Given the description of an element on the screen output the (x, y) to click on. 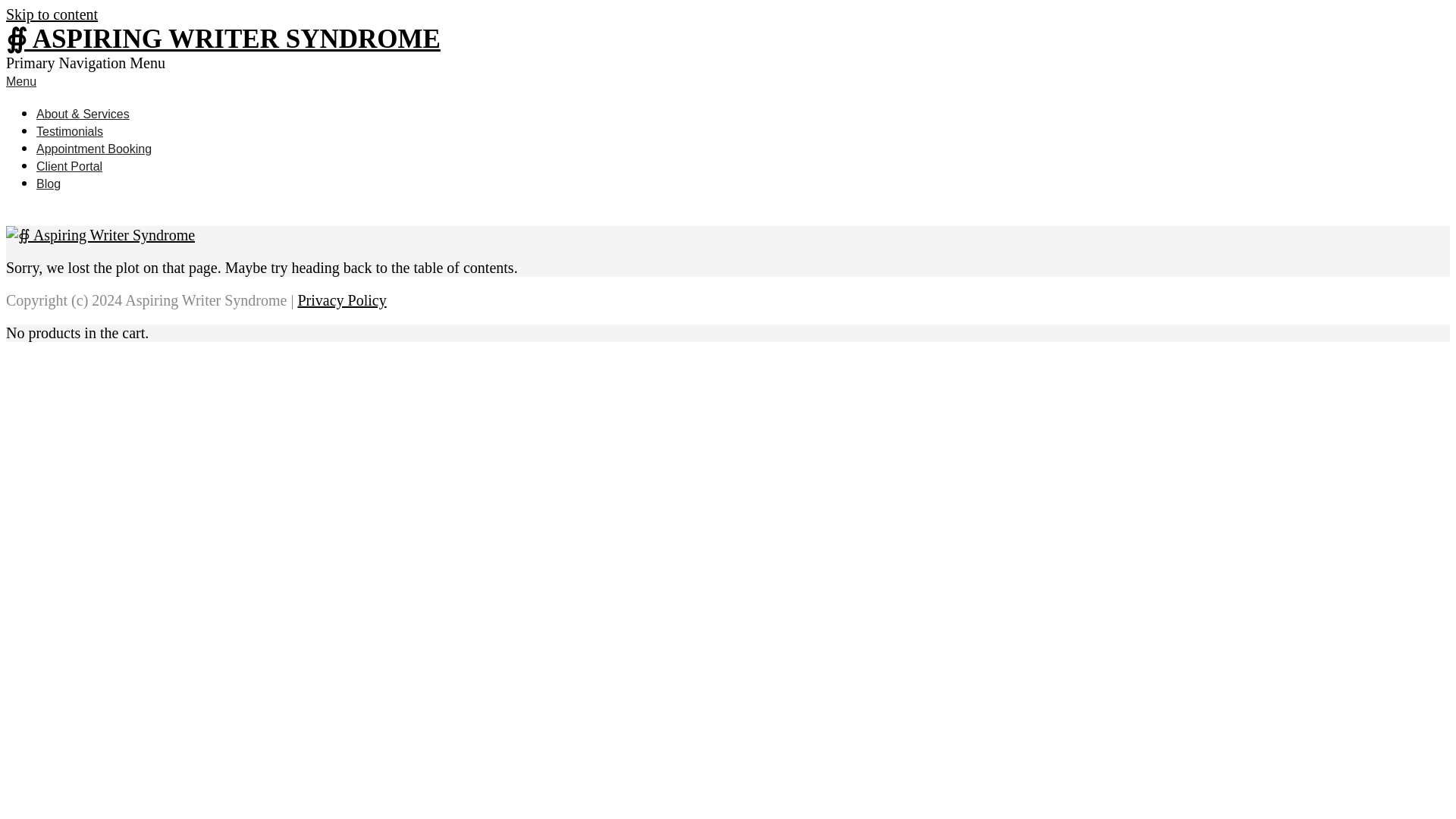
Client Portal (68, 165)
Blog (48, 183)
Menu (20, 81)
Skip to content (51, 13)
Appointment Booking (93, 148)
Testimonials (69, 131)
Privacy Policy (341, 299)
